Given the description of an element on the screen output the (x, y) to click on. 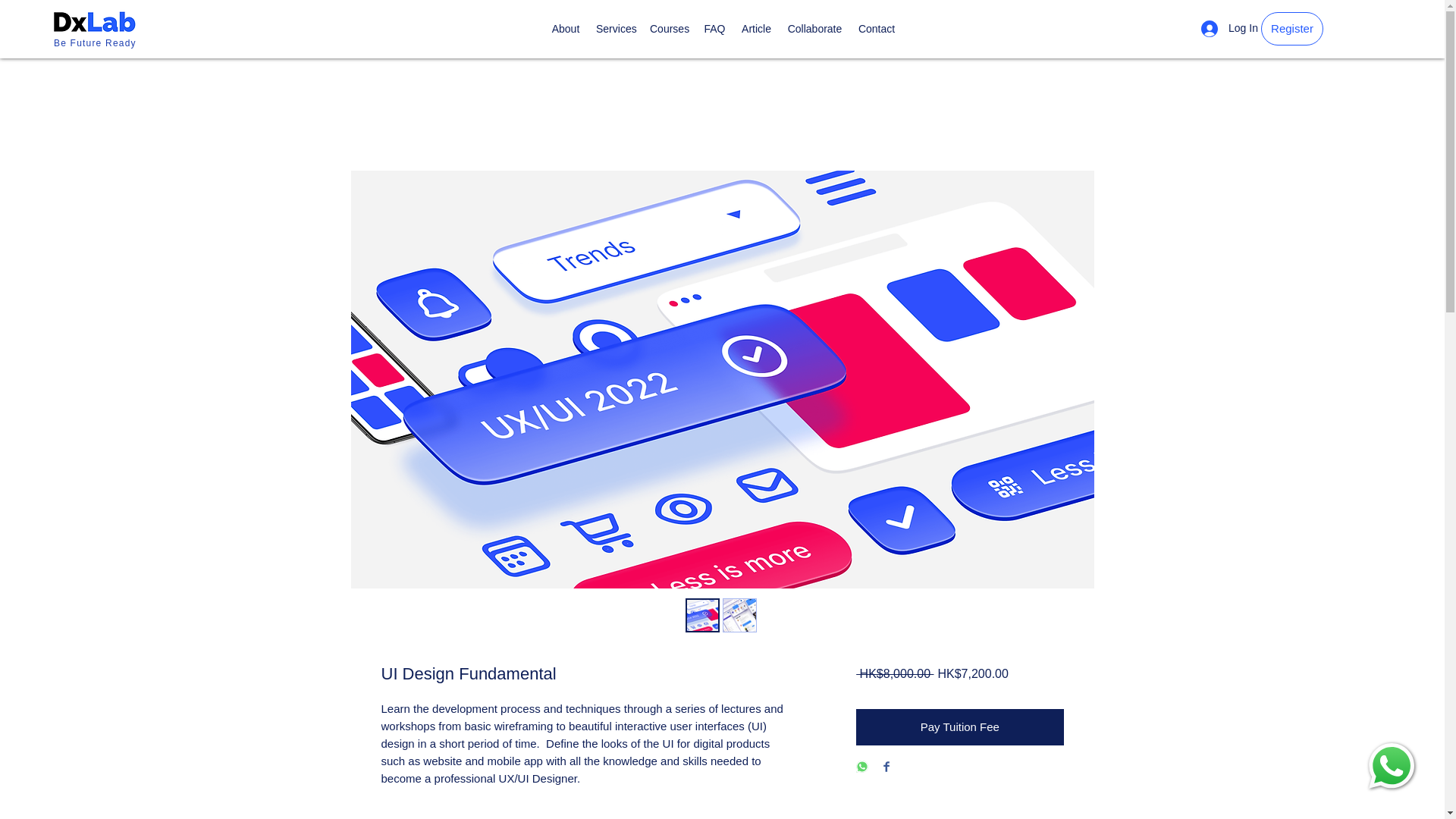
Services (615, 28)
About (565, 28)
FAQ (714, 28)
Contact (876, 28)
Courses (668, 28)
Article (755, 28)
Log In (1225, 28)
Register (1291, 28)
Pay Tuition Fee (959, 727)
Collaborate (814, 28)
